Given the description of an element on the screen output the (x, y) to click on. 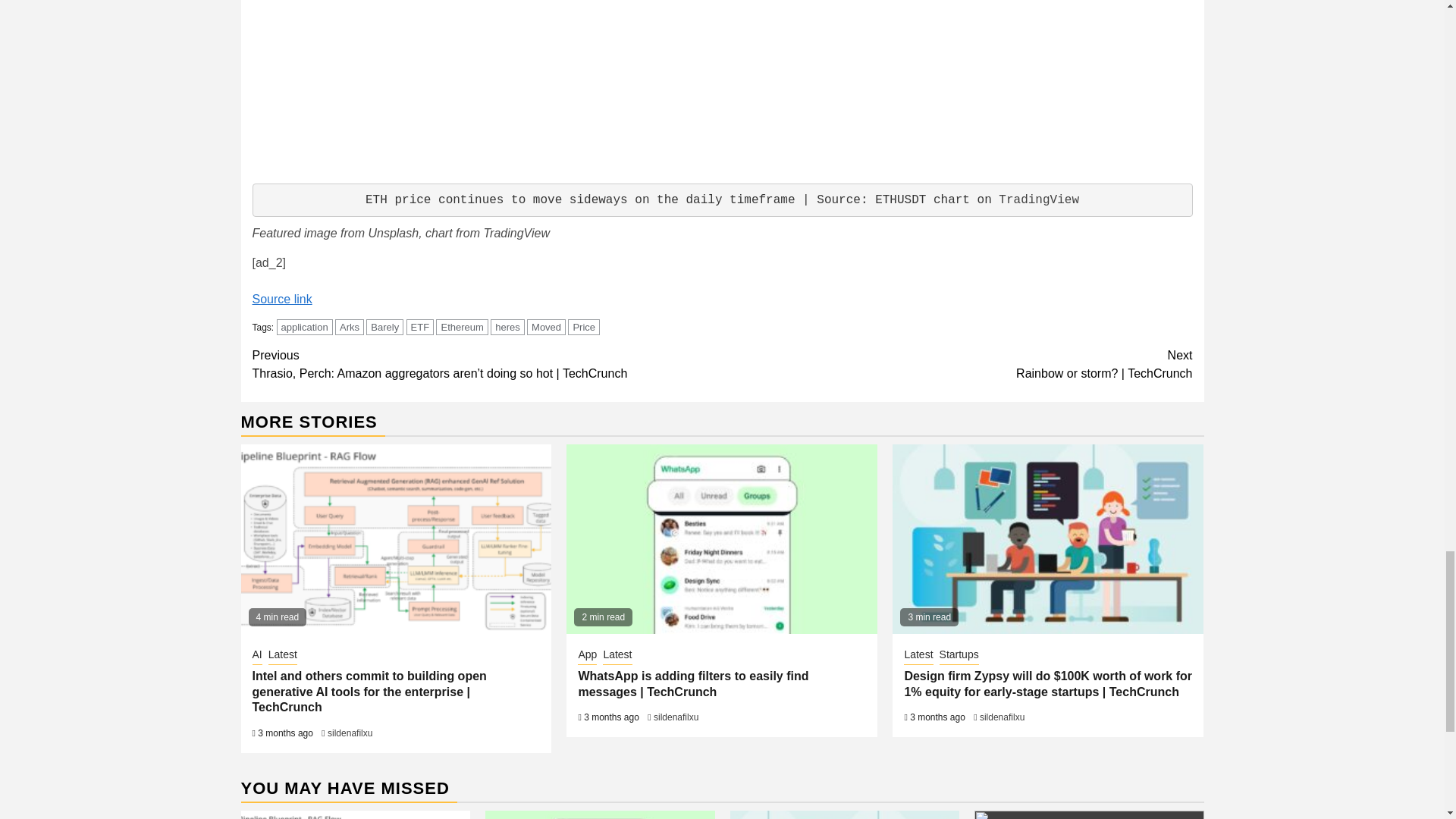
application (304, 326)
Source link (281, 298)
Arks (349, 326)
TradingView (1038, 200)
